Given the description of an element on the screen output the (x, y) to click on. 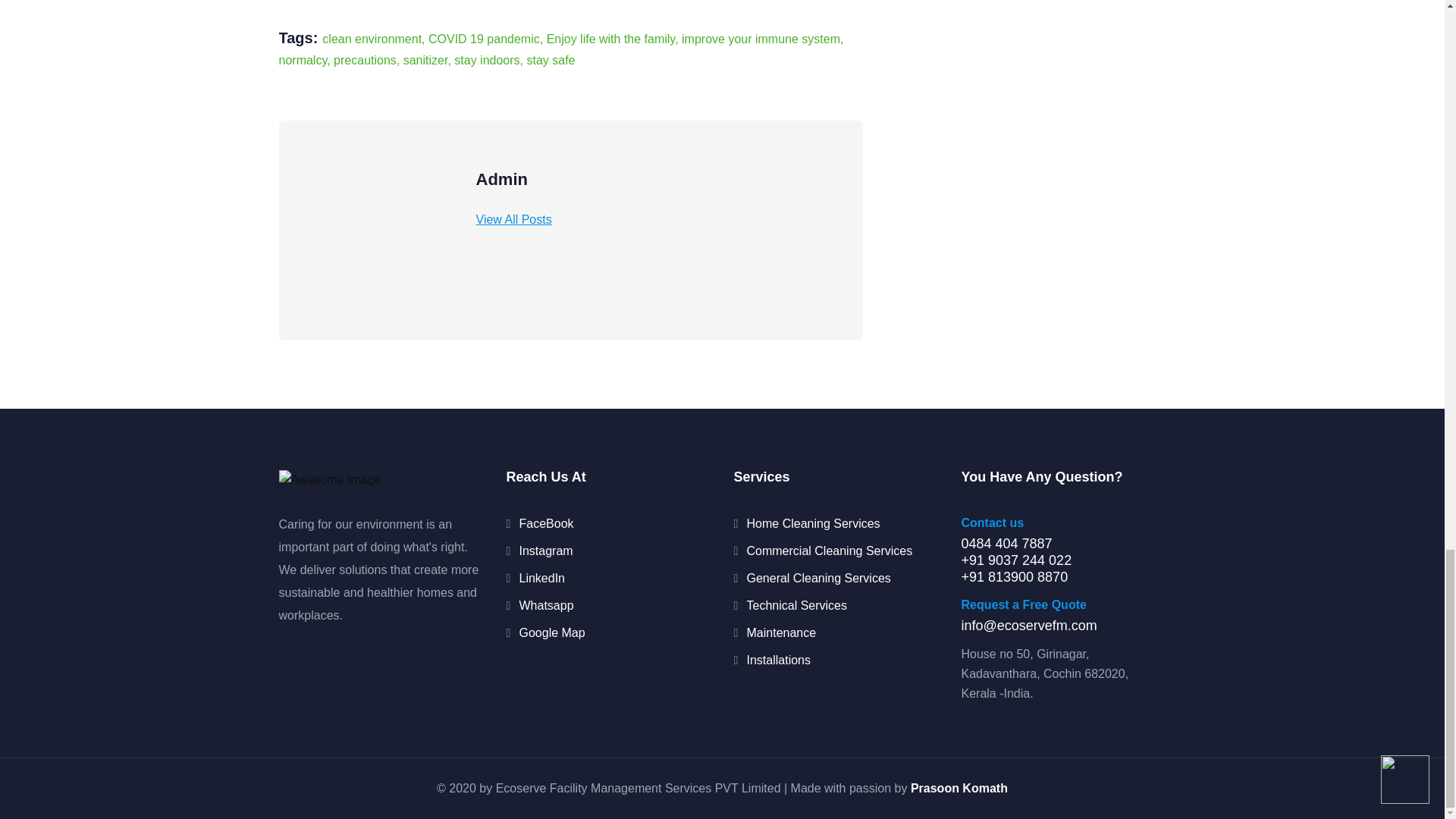
sanitizer (425, 60)
View All Posts (513, 219)
clean environment (371, 38)
stay safe (550, 60)
precautions (364, 60)
stay indoors (486, 60)
COVID 19 pandemic (484, 38)
improve your immune system (760, 38)
Enjoy life with the family (611, 38)
normalcy (303, 60)
